Given the description of an element on the screen output the (x, y) to click on. 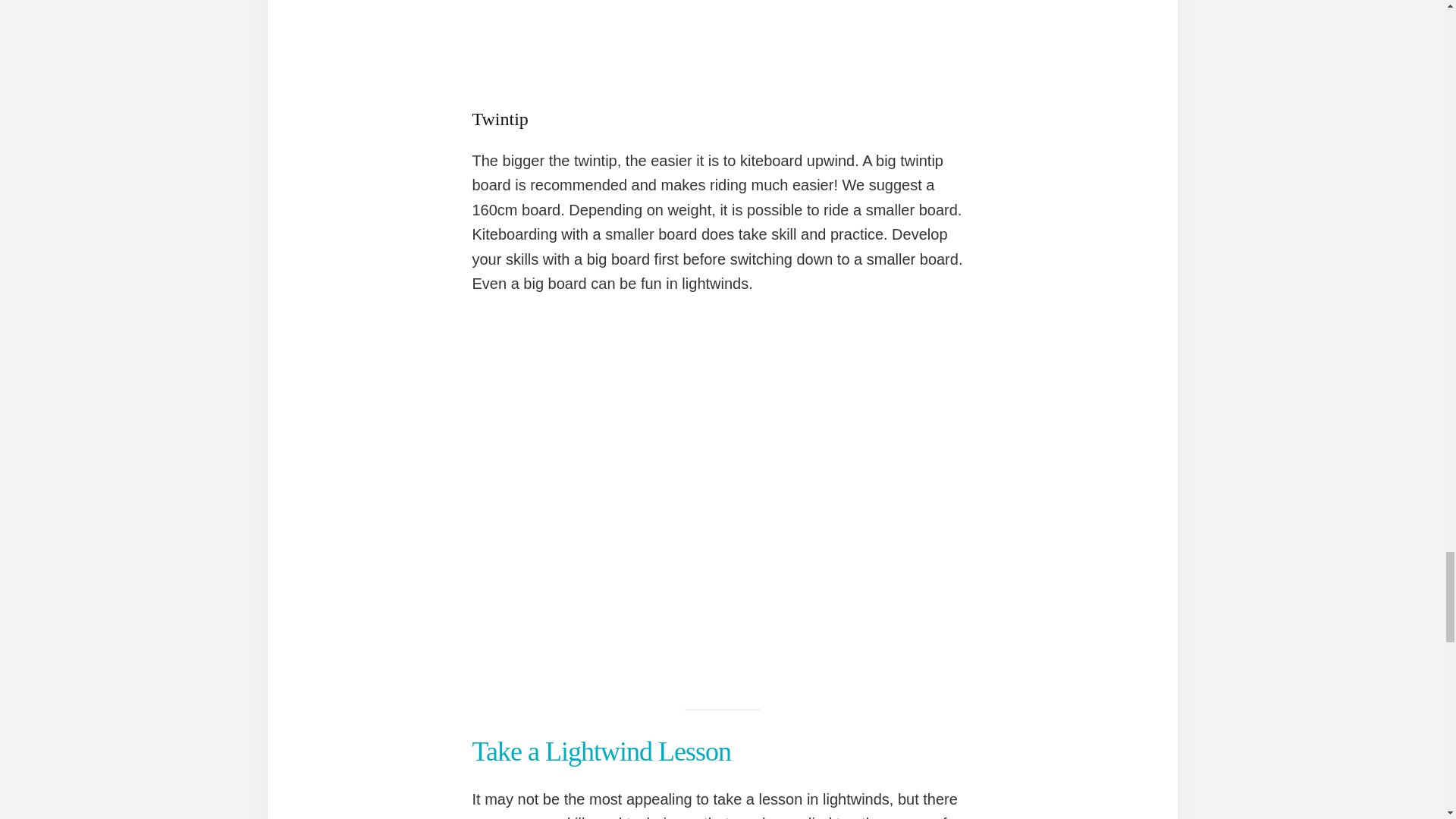
Kiteboard Foilboarding Ultra Light Winds - 7 mph (722, 42)
